Given the description of an element on the screen output the (x, y) to click on. 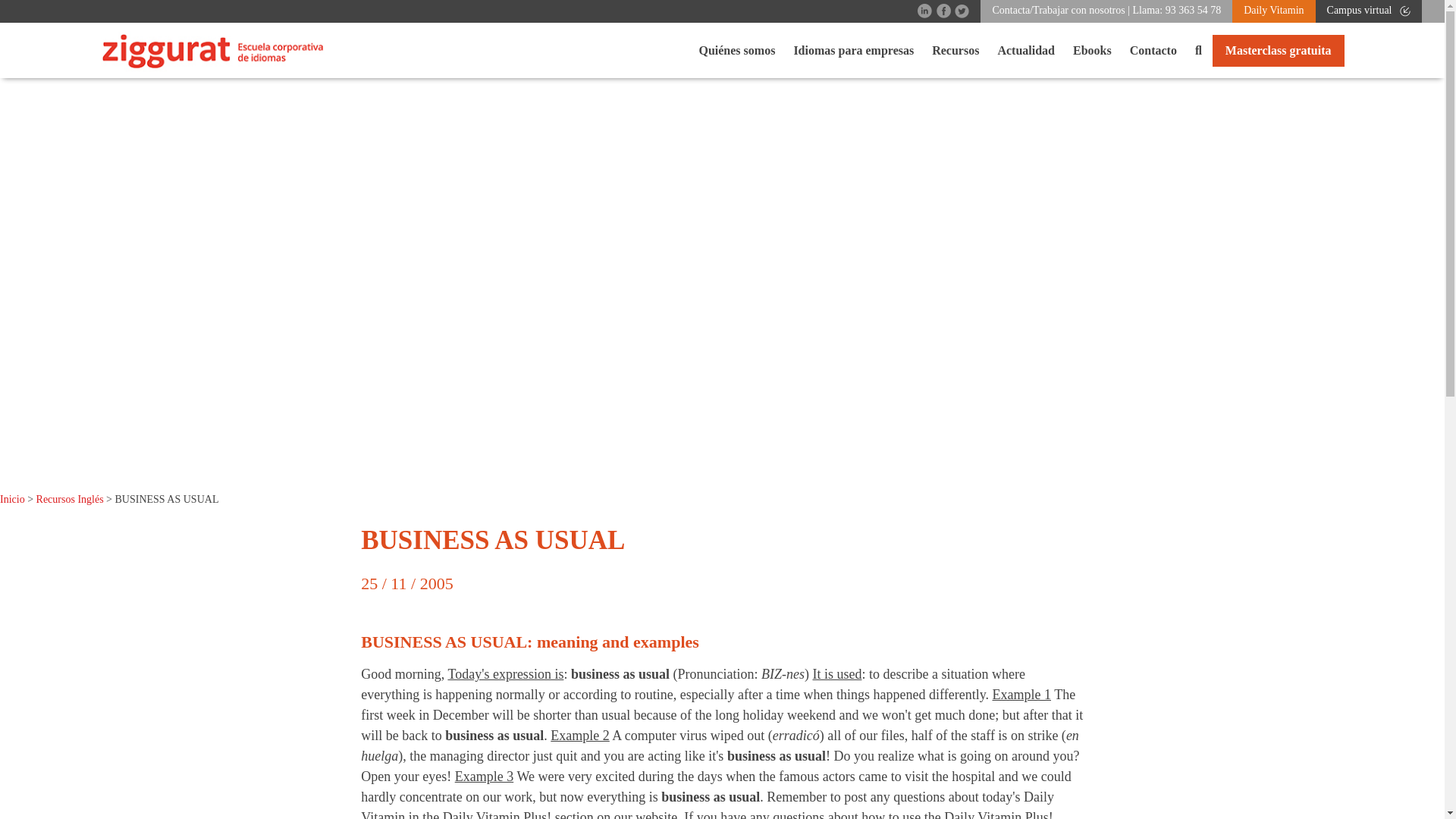
Masterclass gratuita (1277, 50)
Actualidad (1026, 50)
Inicio (12, 499)
Daily Vitamin (1273, 9)
Contacto (1153, 50)
93 363 54 78 (1193, 9)
Recursos (955, 50)
Idiomas para empresas (853, 50)
Campus virtual    (1368, 9)
Ebooks (1092, 50)
